Given the description of an element on the screen output the (x, y) to click on. 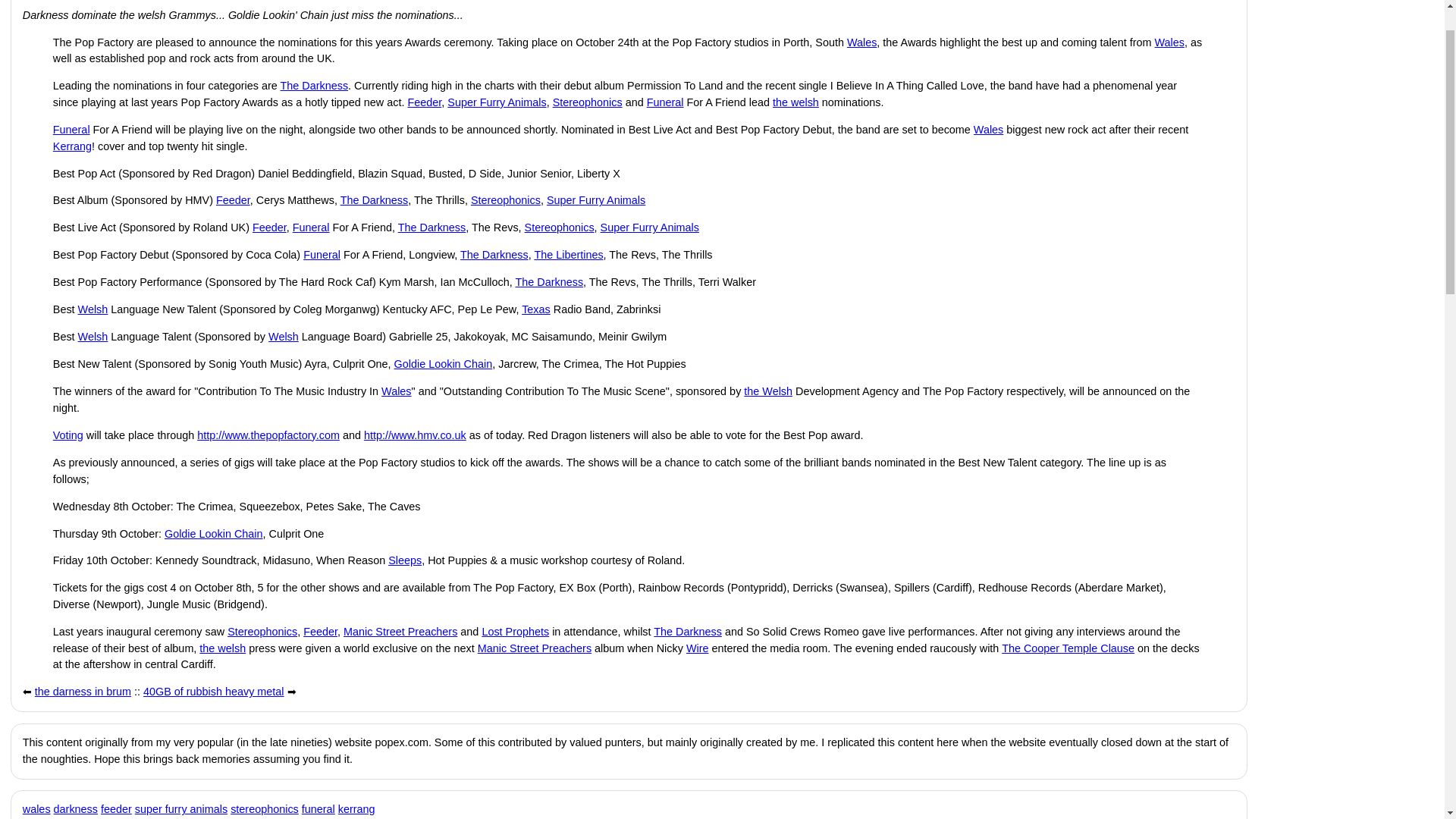
Feeder (319, 631)
Goldie Lookin Chain (213, 532)
Feeder (268, 227)
The Darkness (431, 227)
Wales (988, 129)
Wales (1168, 42)
Feeder (232, 200)
Funeral (665, 102)
Kerrang (71, 146)
Funeral (321, 254)
Welsh (92, 309)
the Welsh (768, 390)
Goldie Lookin Chain (443, 363)
Wales (395, 390)
Welsh (282, 336)
